Given the description of an element on the screen output the (x, y) to click on. 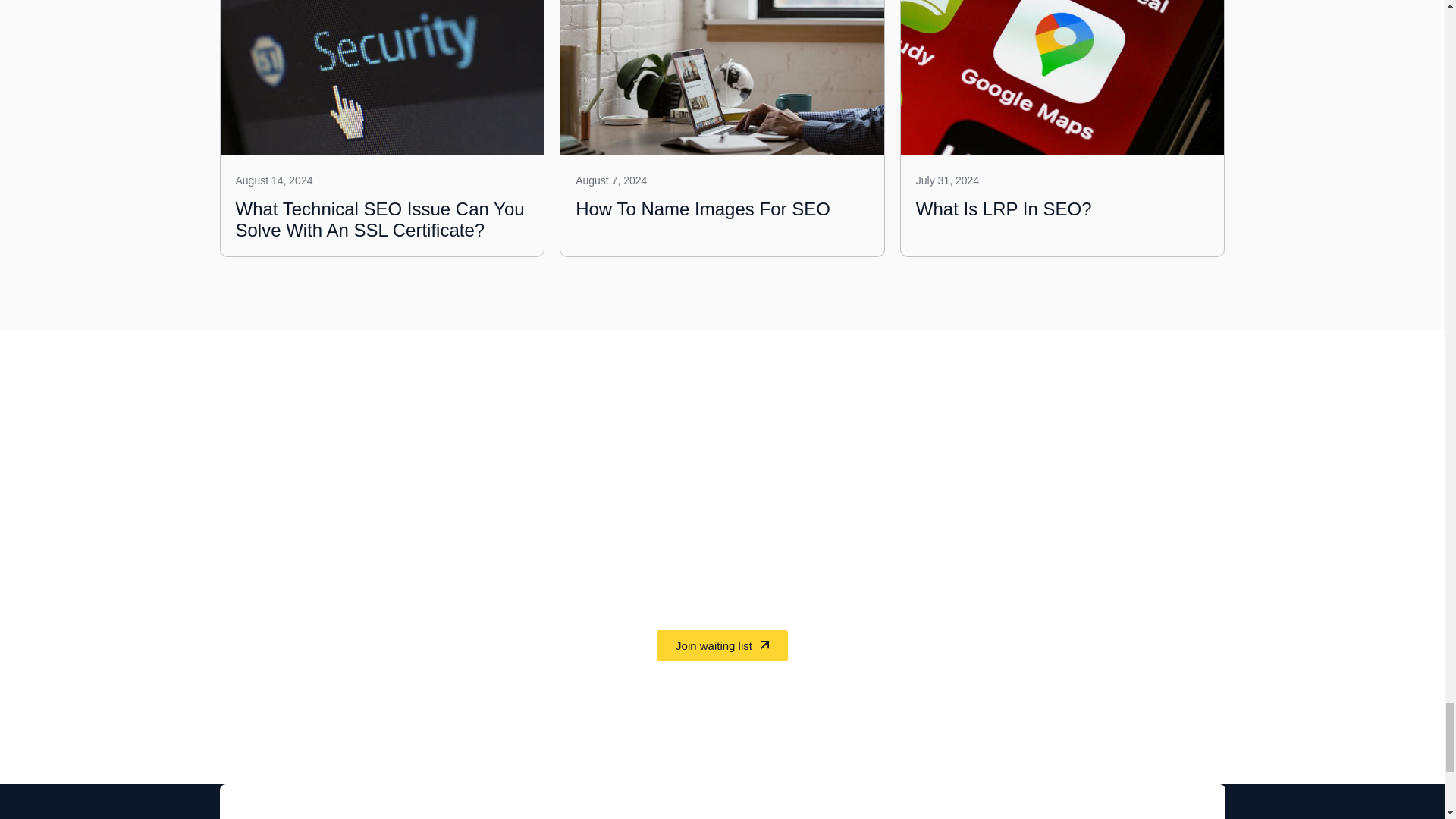
Join waiting list (721, 644)
What Is LRP In SEO? (1003, 209)
How To Name Images For SEO (702, 209)
